Given the description of an element on the screen output the (x, y) to click on. 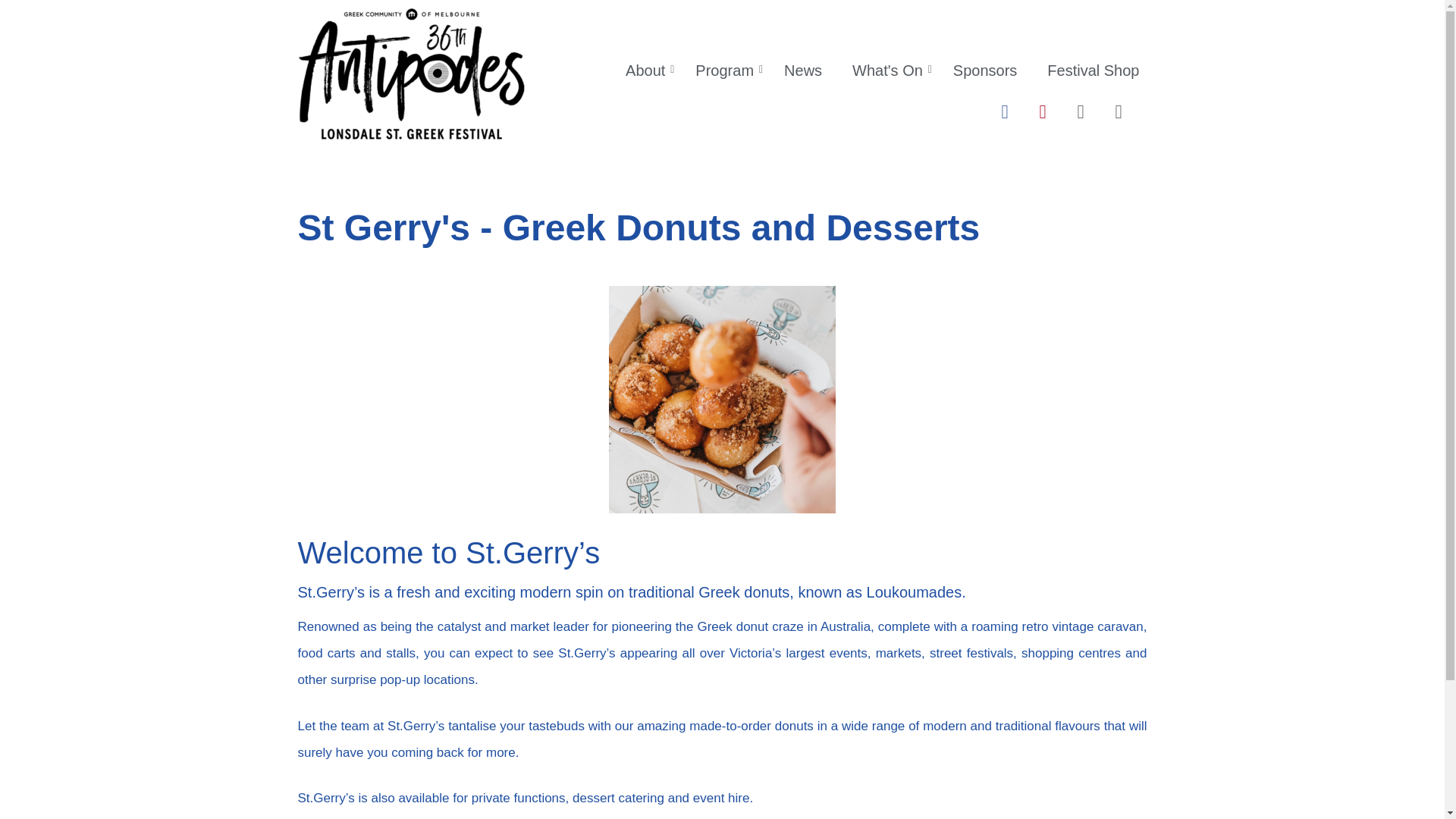
News (802, 70)
Sponsors (984, 70)
Festival Shop (1093, 70)
About (644, 70)
Program (724, 70)
What's On (887, 70)
